Given the description of an element on the screen output the (x, y) to click on. 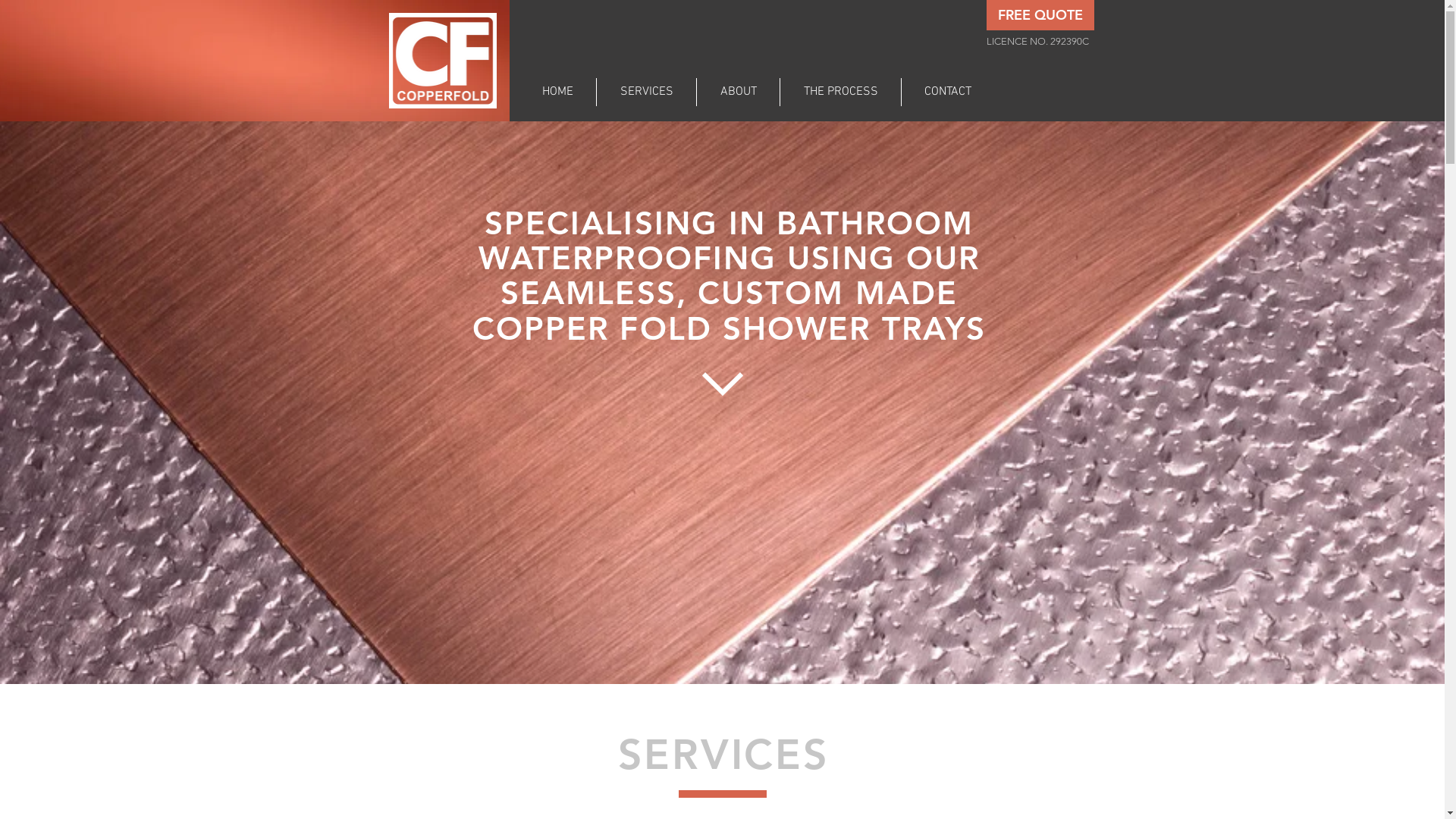
FREE QUOTE Element type: text (1039, 15)
HOME Element type: text (557, 92)
SERVICES Element type: text (646, 92)
unnamed.png Element type: hover (441, 60)
ABOUT Element type: text (737, 92)
CONTACT Element type: text (947, 92)
THE PROCESS Element type: text (840, 92)
